Given the description of an element on the screen output the (x, y) to click on. 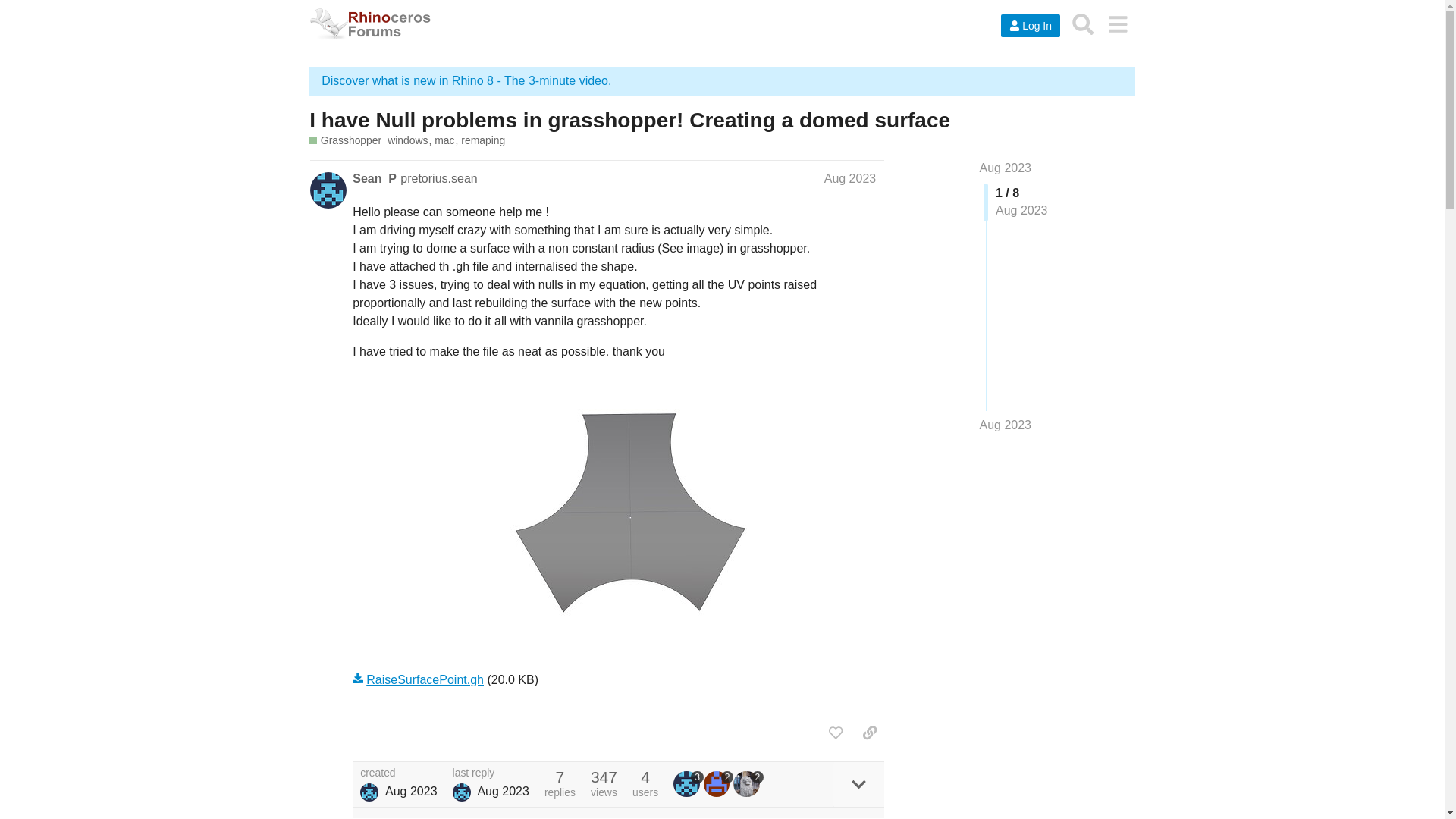
like this post (835, 732)
Aug 2023 (1005, 167)
pretorius.sean (438, 178)
remaping (483, 140)
expand topic details (857, 784)
Search (1082, 23)
2 (718, 783)
copy a link to this post to clipboard (869, 732)
Jump to the last post (1005, 424)
Jump to the first post (1005, 167)
Aug 15, 2023 1:22 am (503, 790)
Aug 14, 2023 9:19 am (411, 790)
Post date (850, 178)
2 (747, 783)
last reply (490, 773)
